Given the description of an element on the screen output the (x, y) to click on. 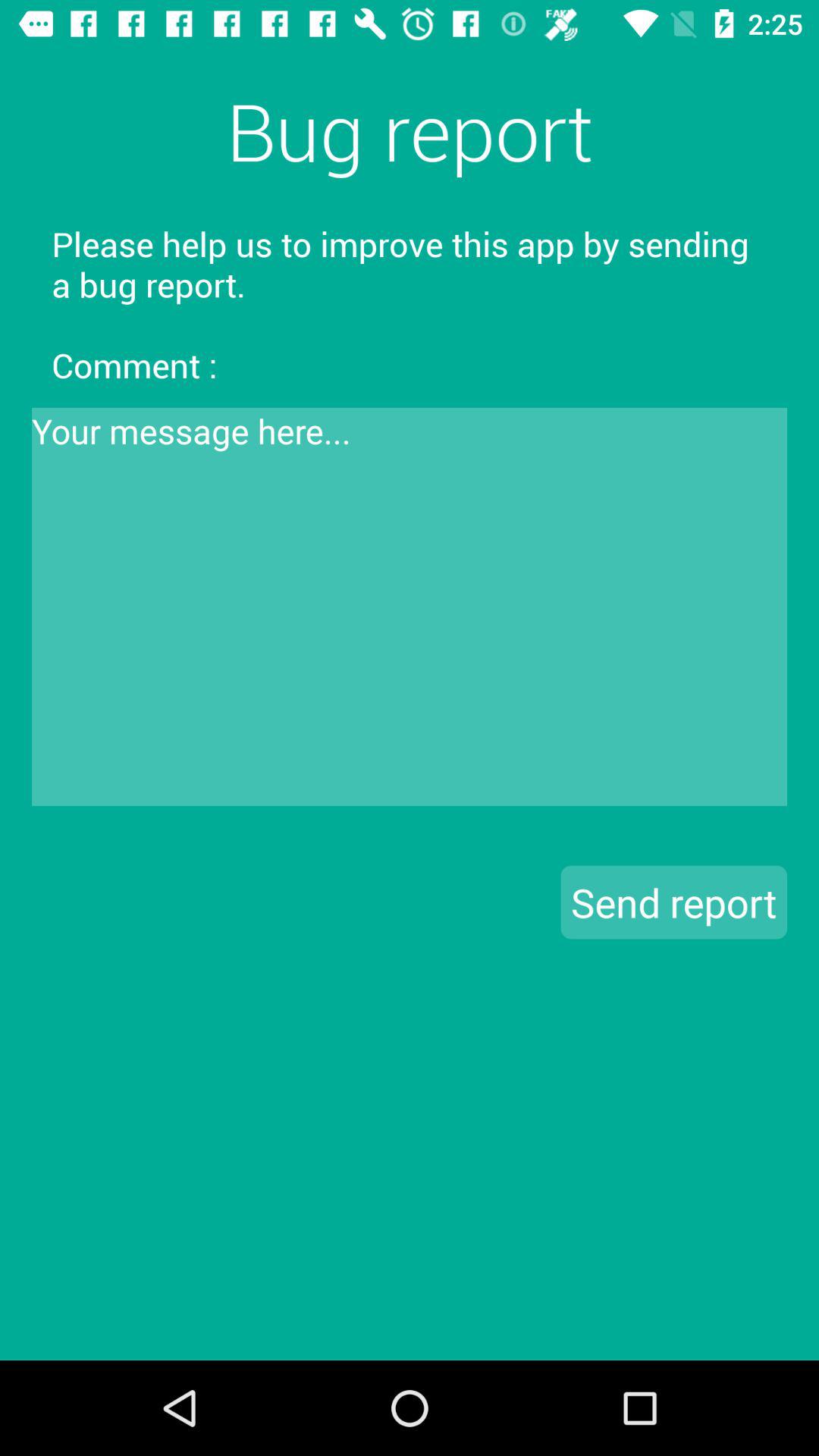
enter comment text (409, 606)
